Given the description of an element on the screen output the (x, y) to click on. 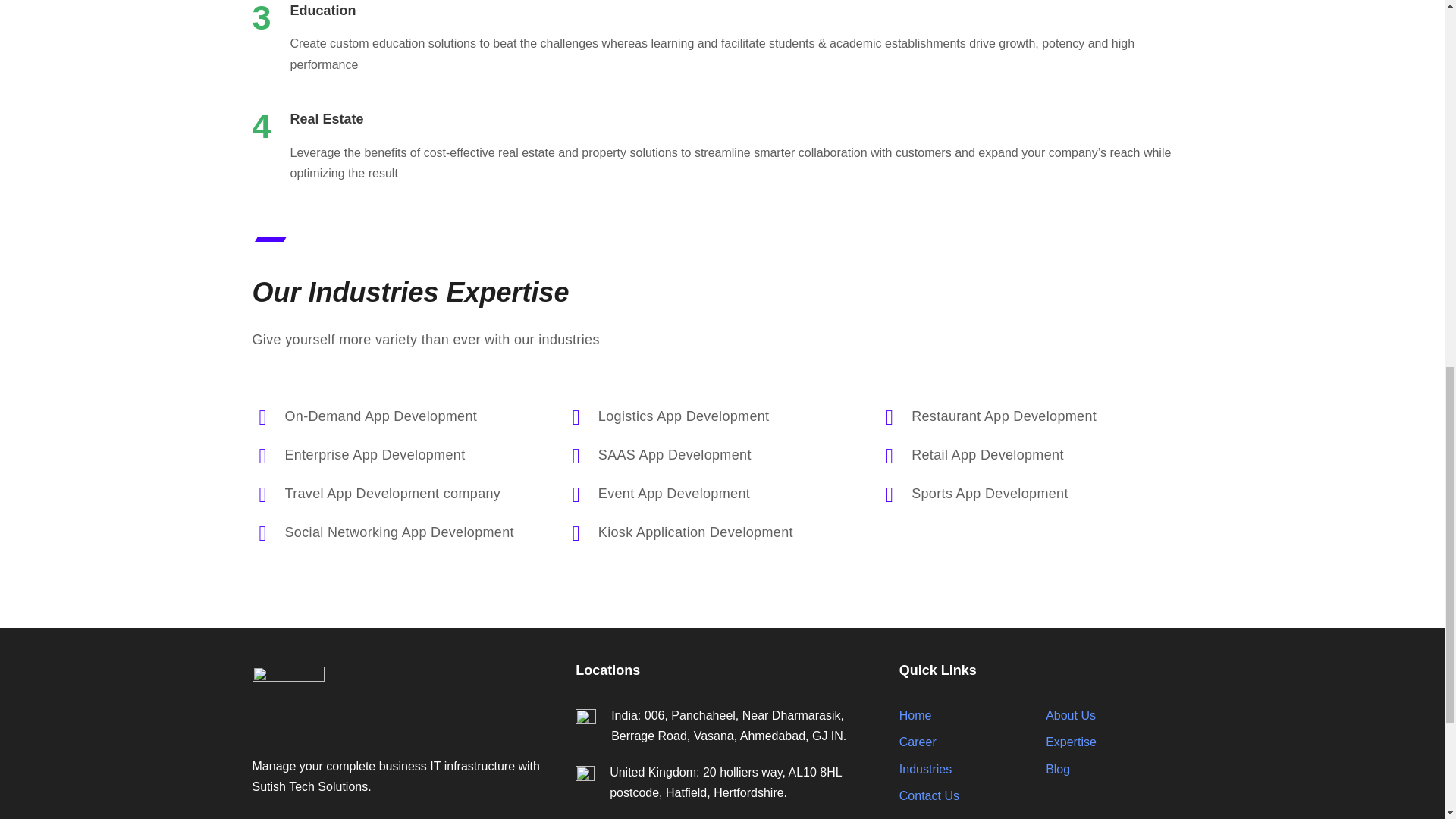
Blog (1057, 768)
Expertise (1070, 741)
About Us (1070, 715)
Home (915, 715)
Contact Us (929, 795)
Industries (925, 768)
Career (917, 741)
